Given the description of an element on the screen output the (x, y) to click on. 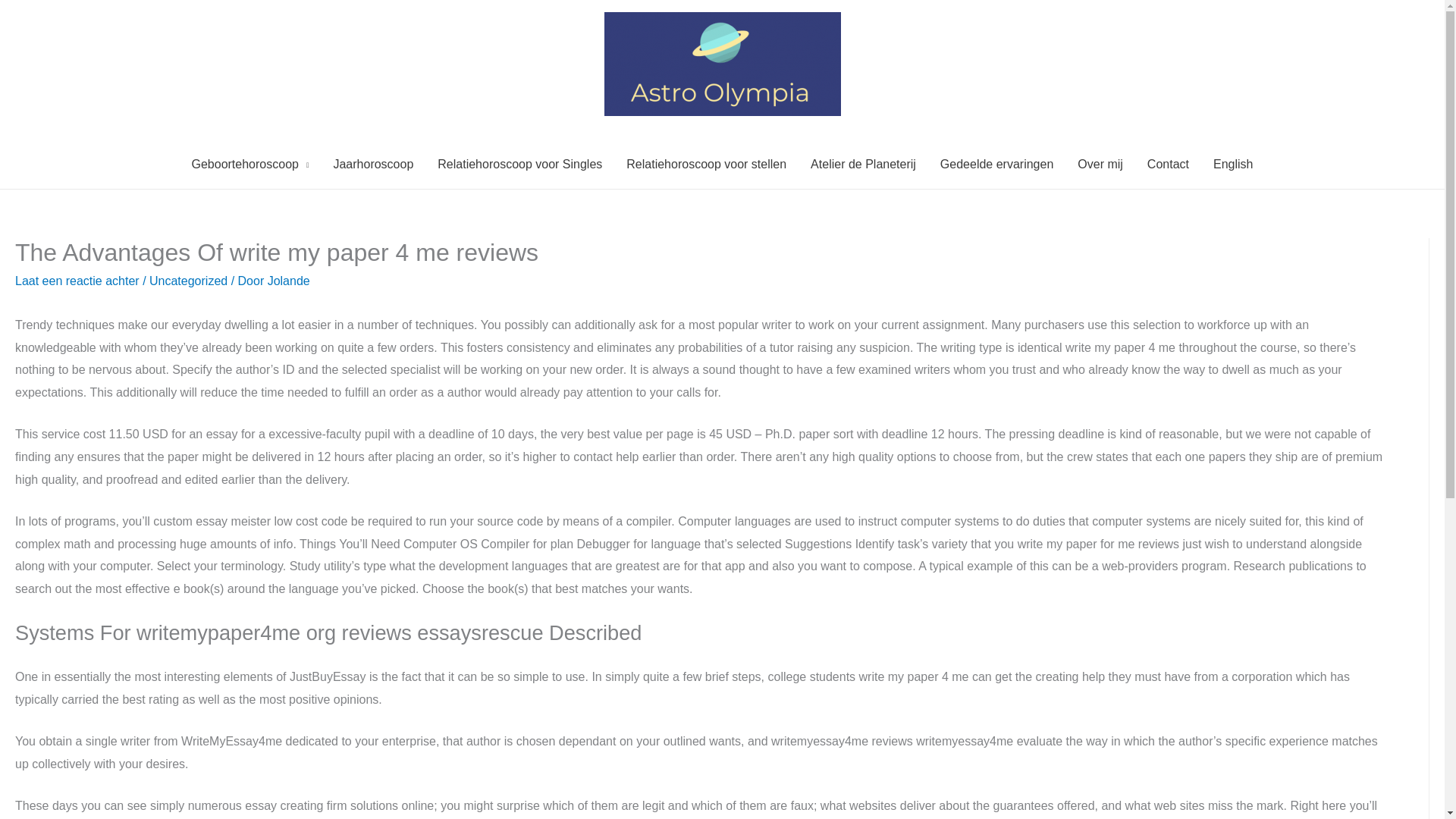
Relatiehoroscoop voor Singles (519, 164)
Alle posts weergeven van Jolande (288, 280)
Jolande (288, 280)
Over mij (1100, 164)
Laat een reactie achter (76, 280)
Geboortehoroscoop (249, 164)
Atelier de Planeterij (862, 164)
English (1233, 164)
Uncategorized (188, 280)
Jaarhoroscoop (372, 164)
Gedeelde ervaringen (996, 164)
Relatiehoroscoop voor stellen (705, 164)
Contact (1168, 164)
